Given the description of an element on the screen output the (x, y) to click on. 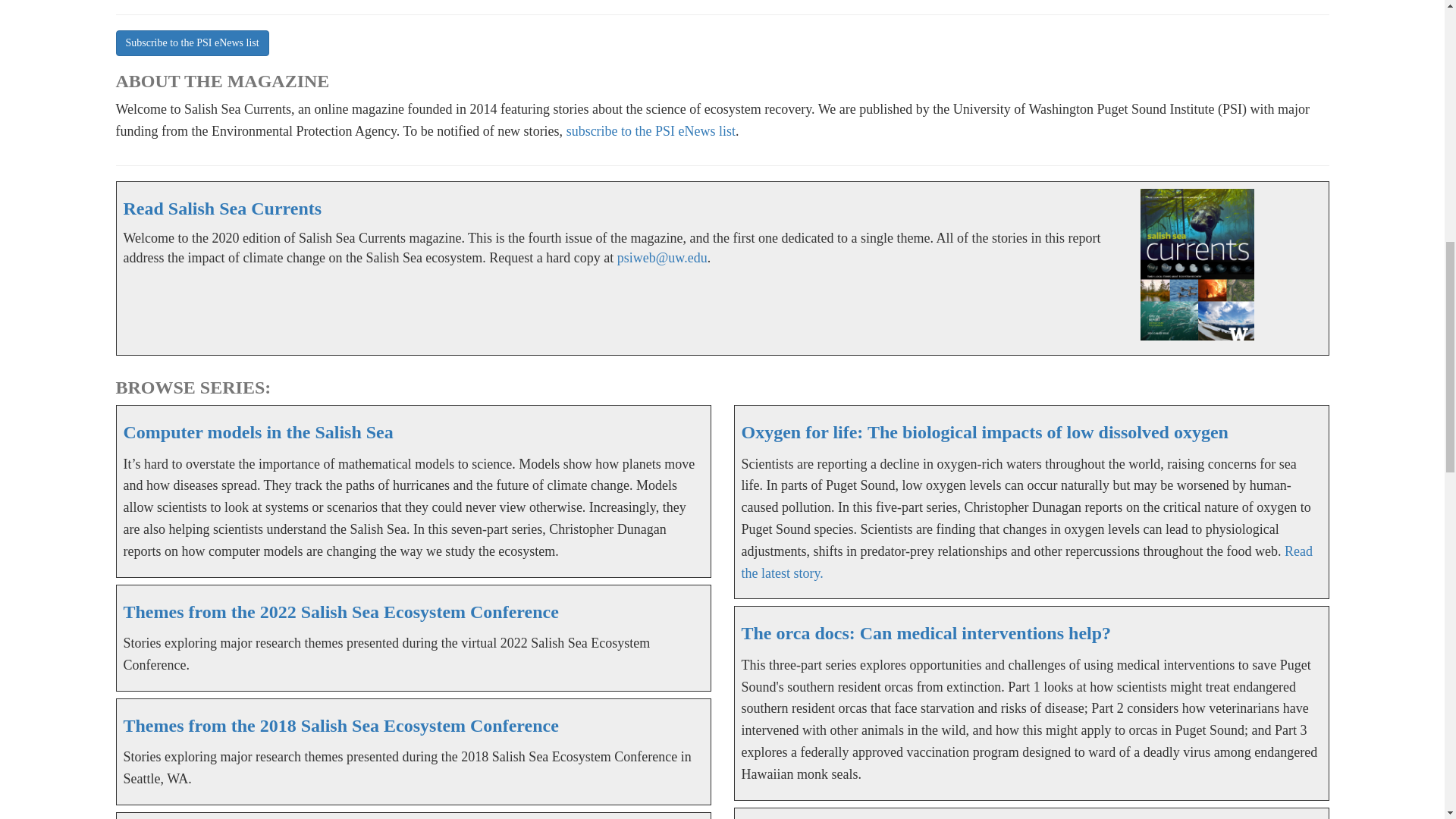
Themes from the 2022 Salish Sea Ecosystem Conference (339, 611)
Themes from the 2018 Salish Sea Ecosystem Conference (339, 725)
Read Salish Sea Currents (221, 208)
Subscribe to the PSI eNews list (191, 43)
Computer models in the Salish Sea (257, 432)
subscribe to the PSI eNews list (650, 130)
Subscribe to the PSI eNews list (191, 41)
